Given the description of an element on the screen output the (x, y) to click on. 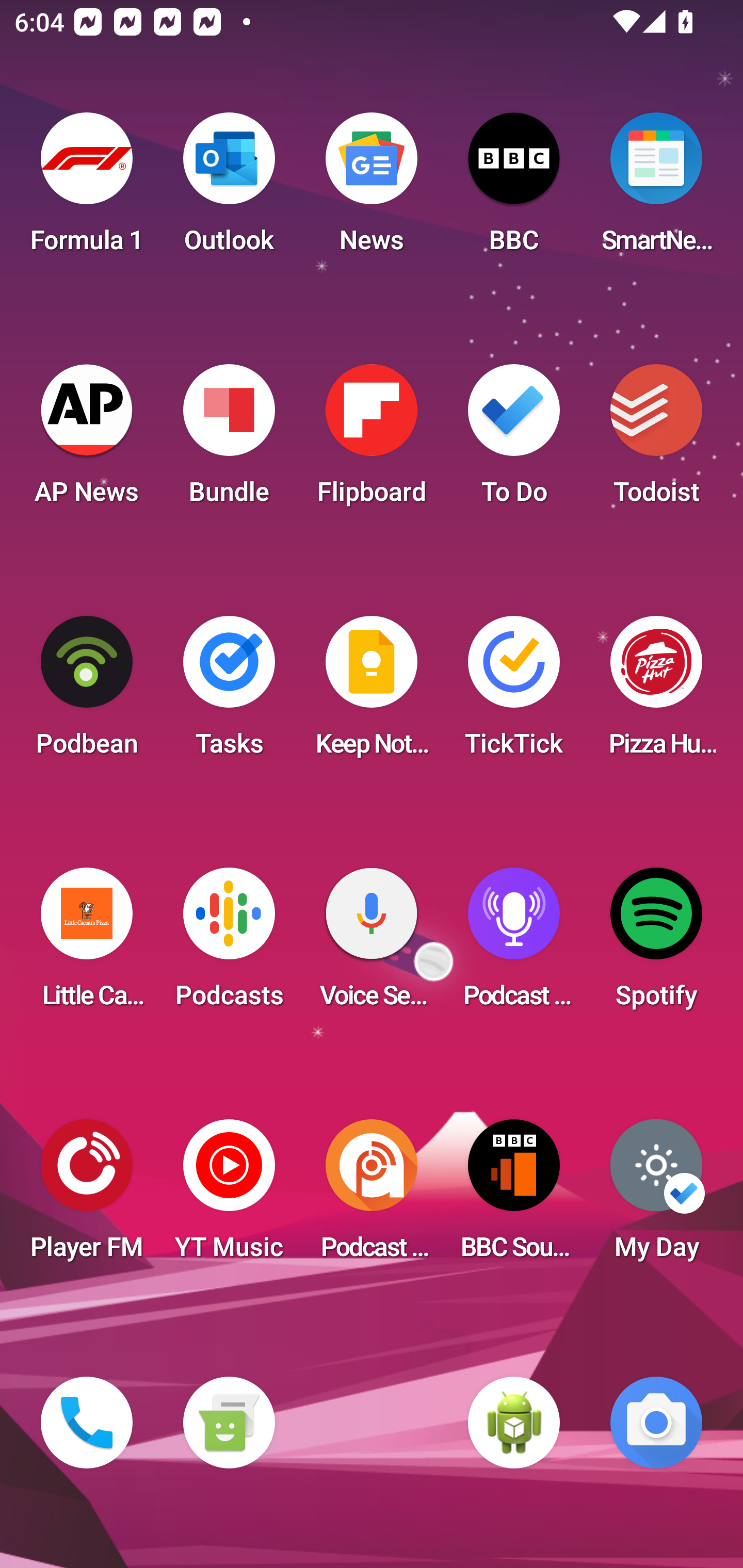
Formula 1 (86, 188)
Outlook (228, 188)
News (371, 188)
BBC (513, 188)
SmartNews (656, 188)
AP News (86, 440)
Bundle (228, 440)
Flipboard (371, 440)
To Do (513, 440)
Todoist (656, 440)
Podbean (86, 692)
Tasks (228, 692)
Keep Notes (371, 692)
TickTick (513, 692)
Pizza Hut HK & Macau (656, 692)
Little Caesars Pizza (86, 943)
Podcasts (228, 943)
Voice Search (371, 943)
Podcast Player (513, 943)
Spotify (656, 943)
Player FM (86, 1195)
YT Music (228, 1195)
Podcast Addict (371, 1195)
BBC Sounds (513, 1195)
My Day (656, 1195)
Phone (86, 1422)
Messaging (228, 1422)
WebView Browser Tester (513, 1422)
Camera (656, 1422)
